Given the description of an element on the screen output the (x, y) to click on. 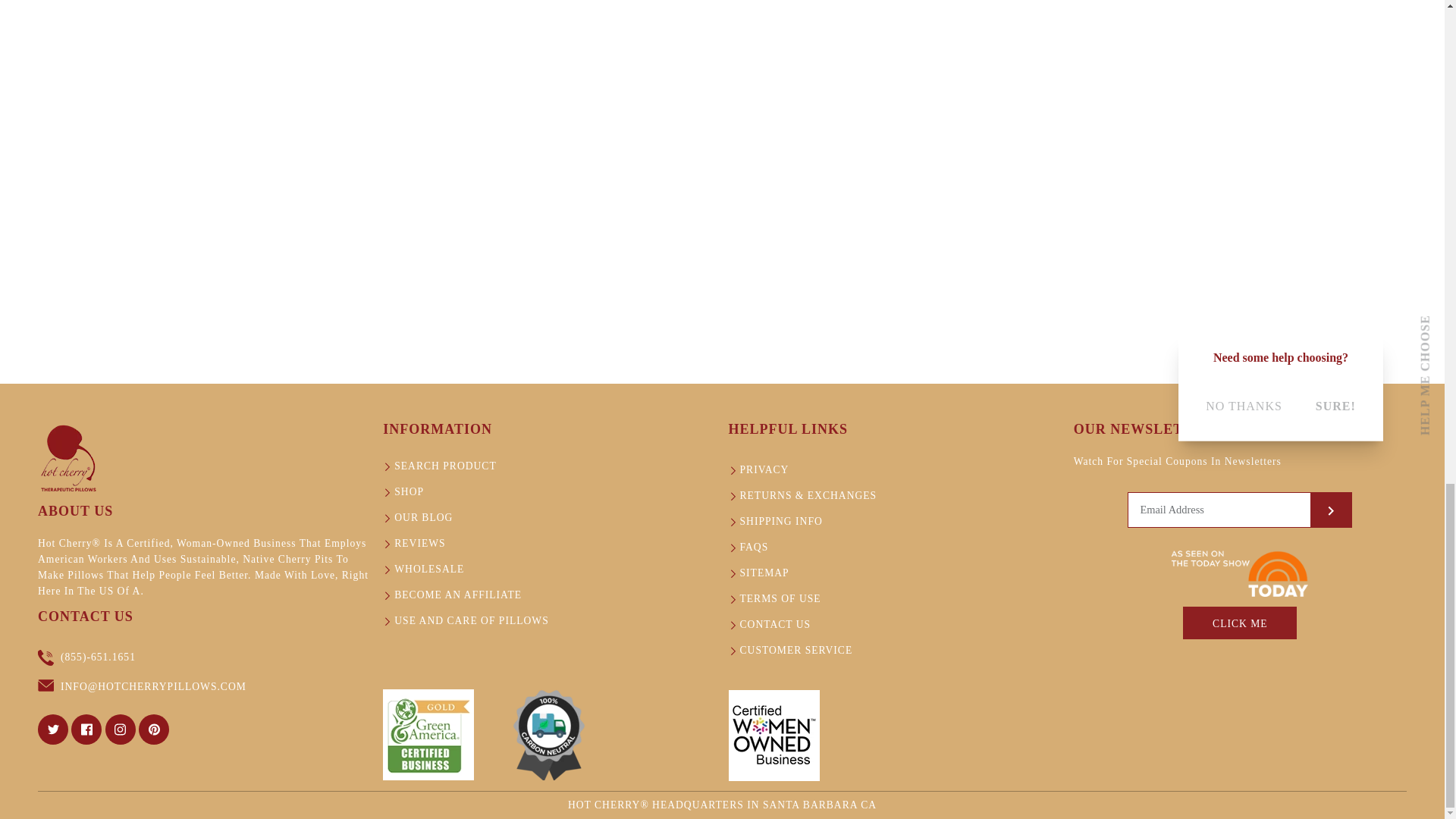
INSTAGRAM (120, 729)
RIGHT (1330, 511)
TWITTER (52, 729)
PINTEREST (154, 729)
FACEBOOK (87, 729)
